Given the description of an element on the screen output the (x, y) to click on. 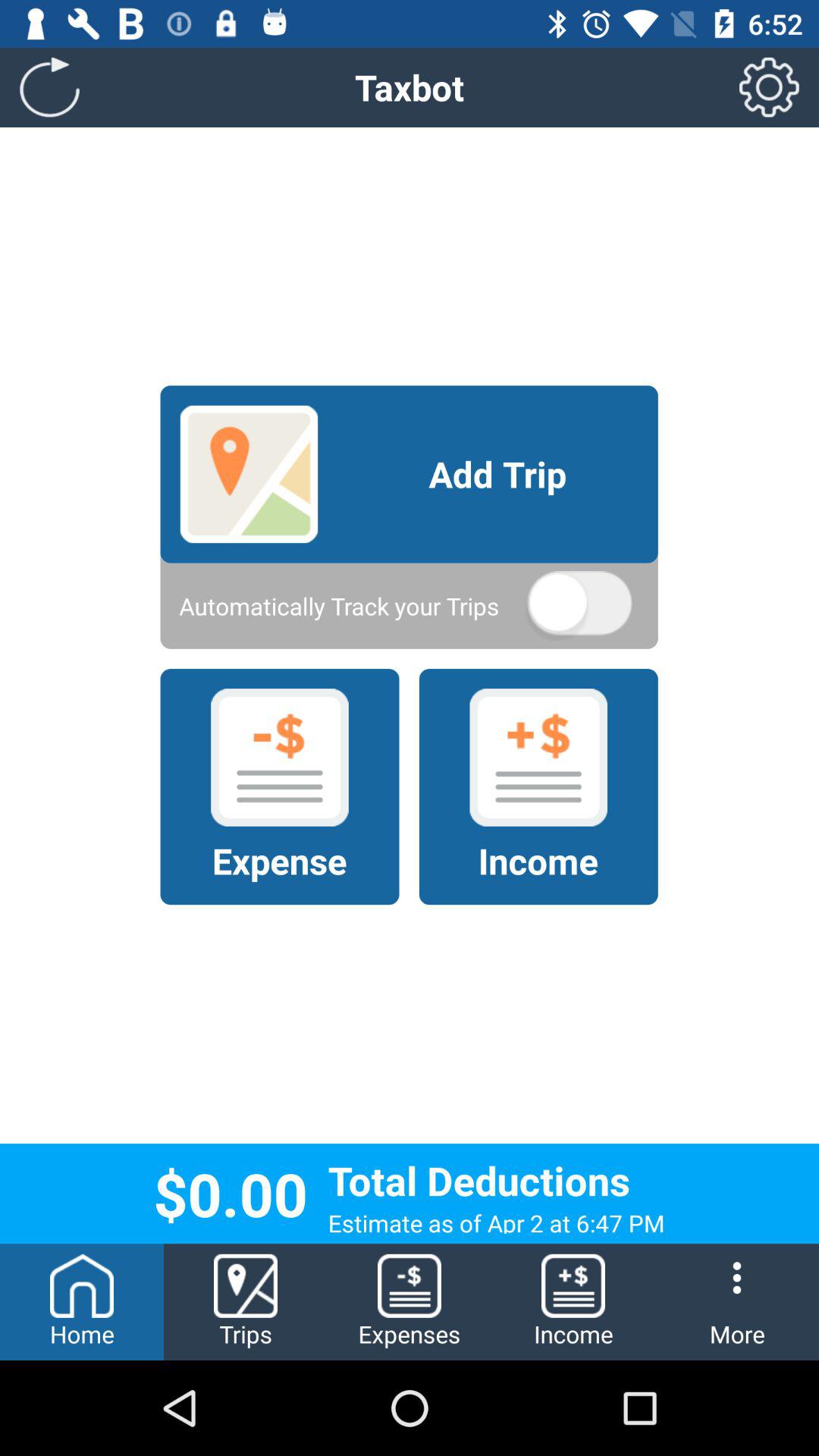
click the item below estimate as of icon (737, 1301)
